Given the description of an element on the screen output the (x, y) to click on. 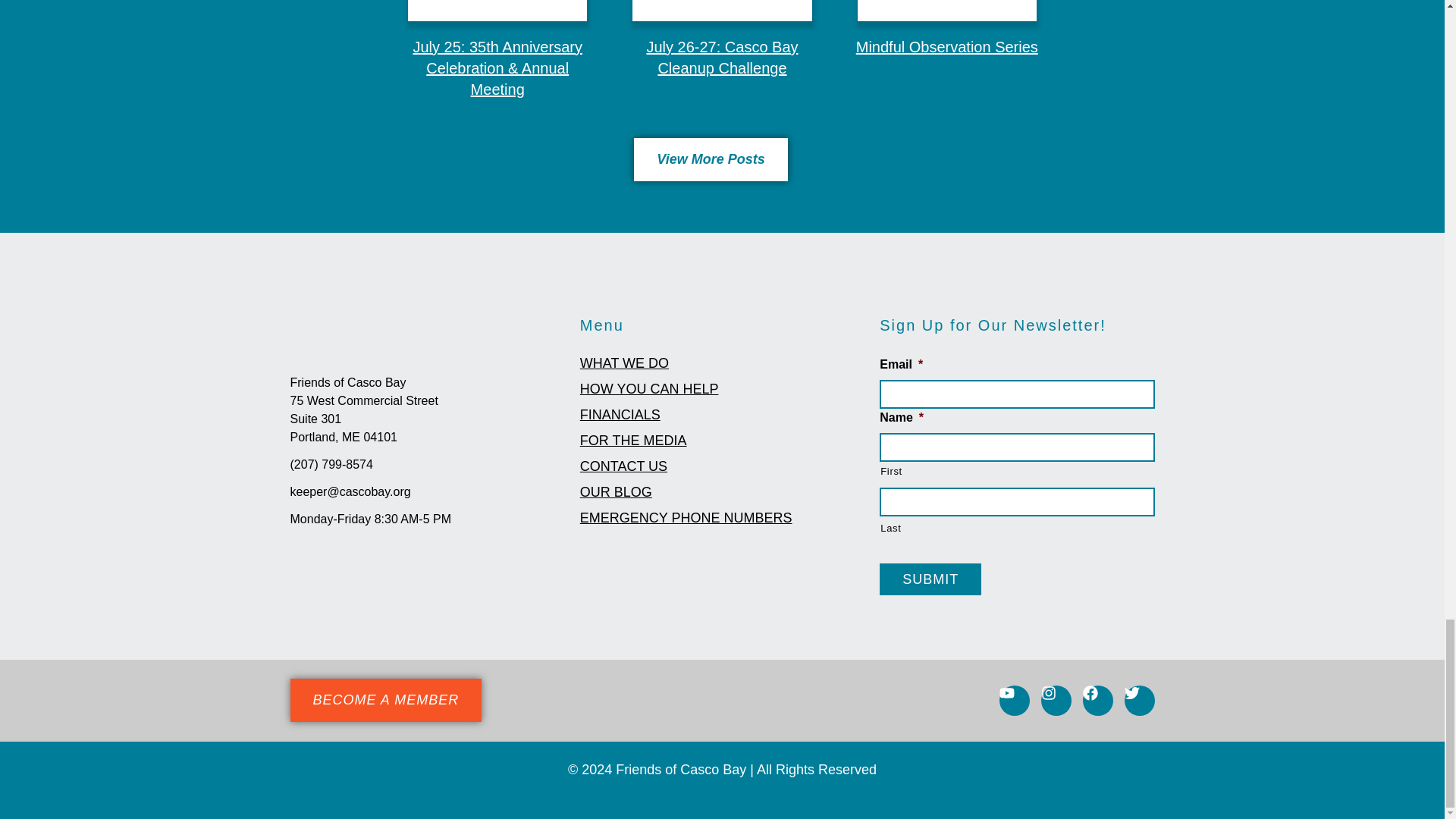
Submit (930, 579)
